Given the description of an element on the screen output the (x, y) to click on. 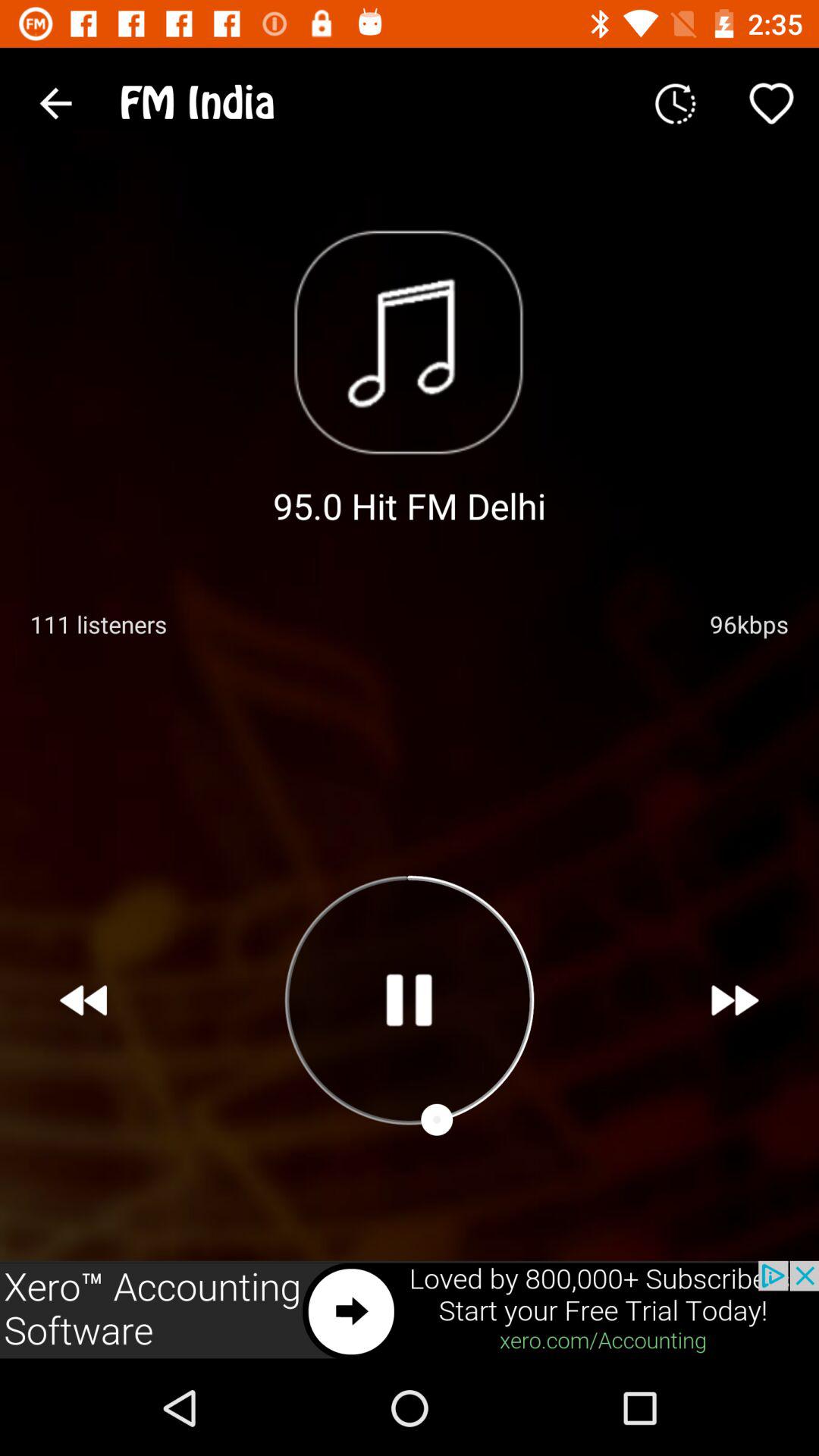
go to advert (409, 1310)
